Given the description of an element on the screen output the (x, y) to click on. 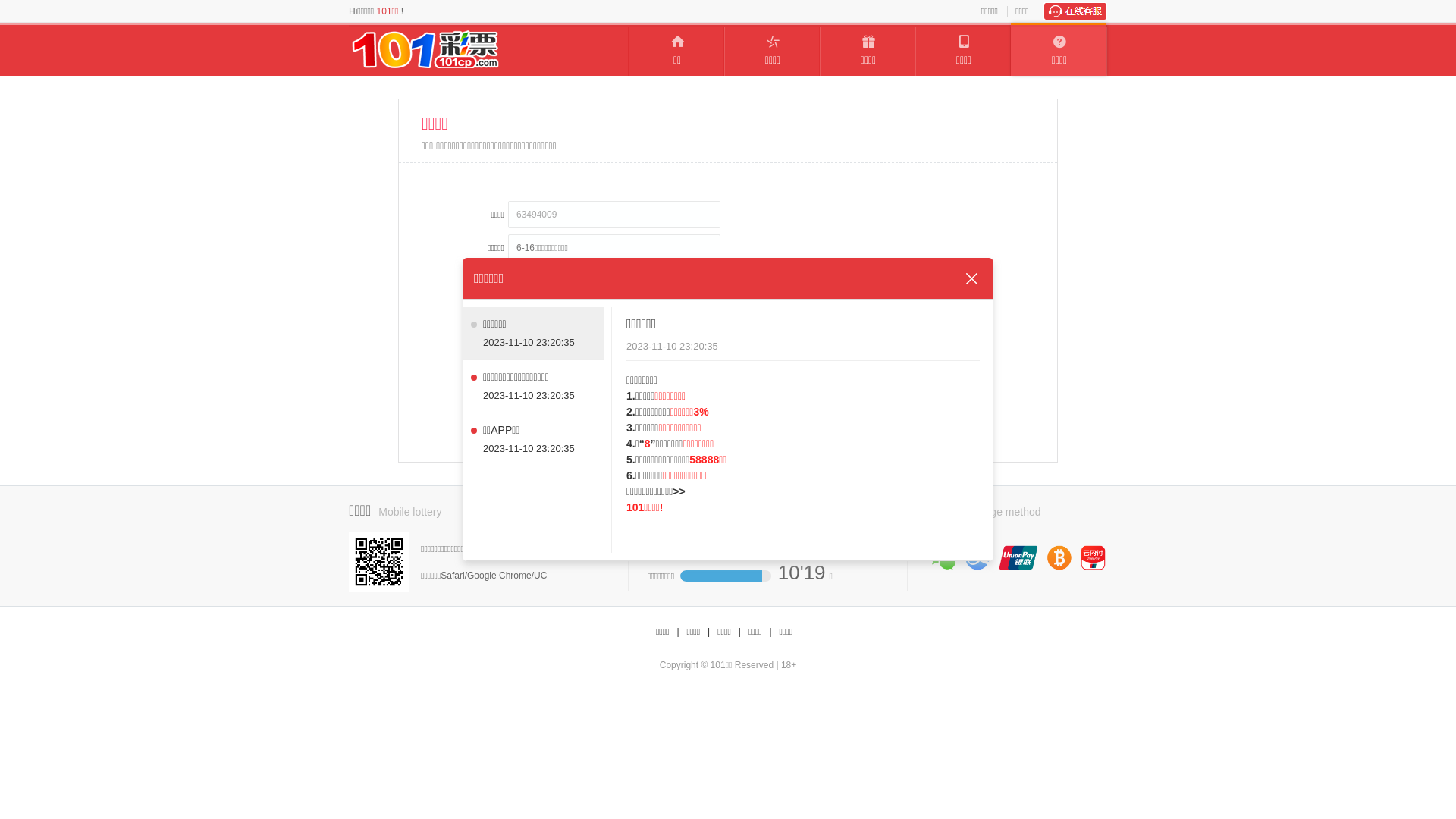
| Element type: text (769, 631)
| Element type: text (677, 631)
| Element type: text (739, 631)
| Element type: text (708, 631)
